Given the description of an element on the screen output the (x, y) to click on. 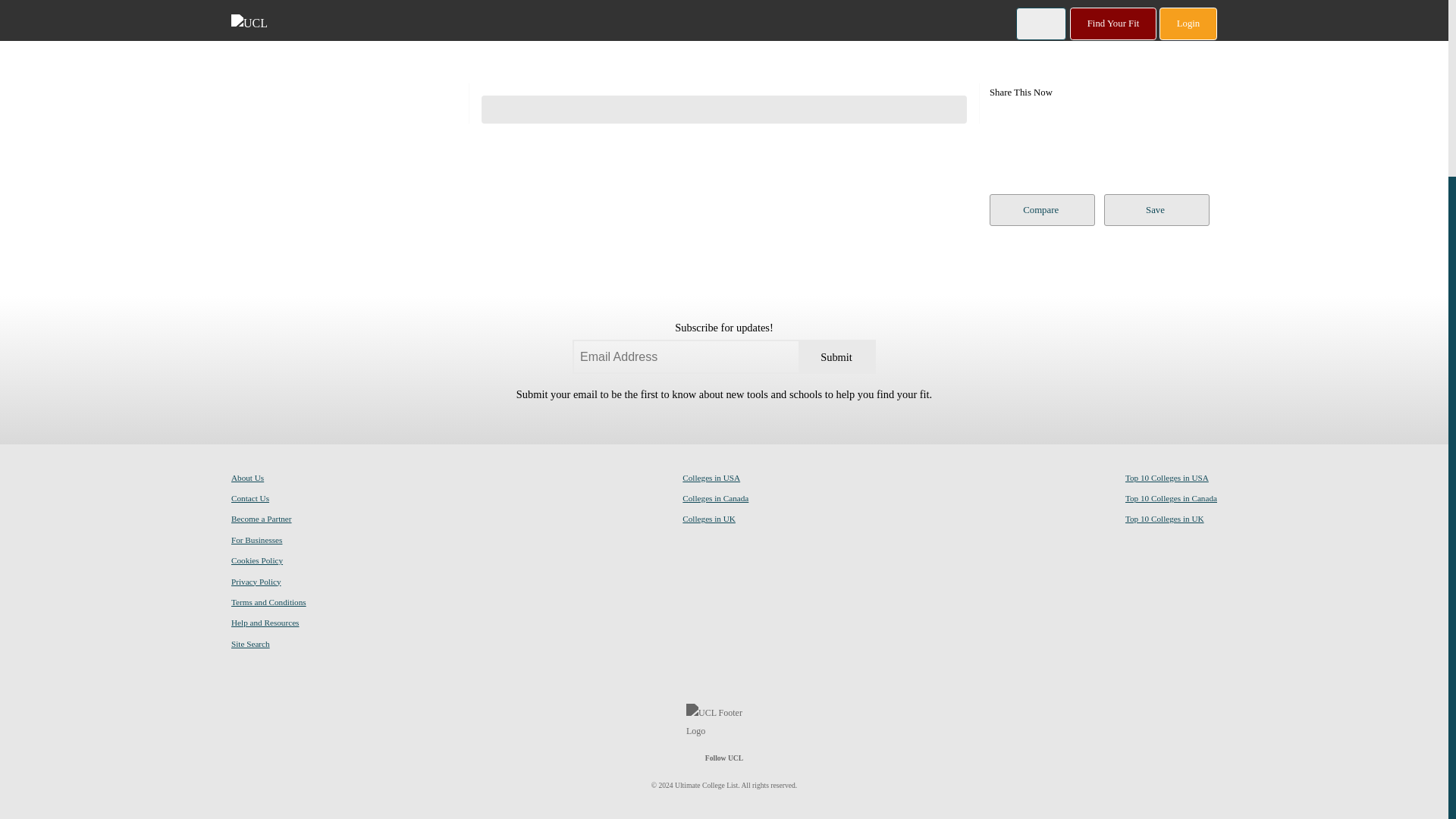
Top 10 Colleges in Canada (1171, 497)
Help and Resources (264, 622)
Colleges in UK (708, 518)
Site Search (250, 643)
Cookies Policy (256, 560)
For Businesses (256, 539)
About Us (247, 477)
Top 10 Colleges in UK (1164, 518)
Become a Partner (261, 518)
Colleges in USA (710, 477)
